Given the description of an element on the screen output the (x, y) to click on. 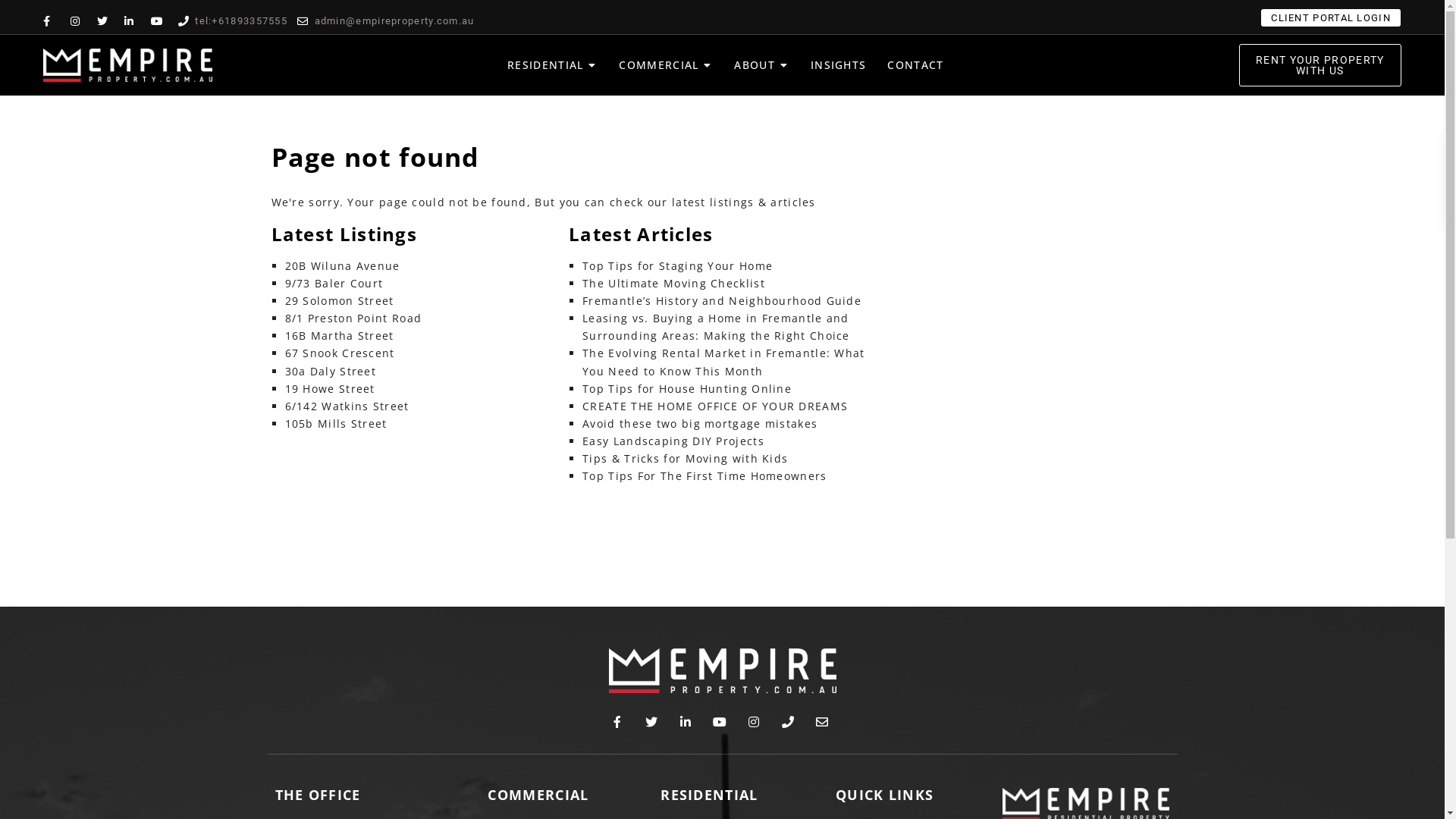
ABOUT Element type: text (754, 64)
The Ultimate Moving Checklist Element type: text (673, 283)
COMMERCIAL Element type: text (537, 794)
COMMERCIAL Element type: text (658, 64)
29 Solomon Street Element type: text (339, 300)
Top Tips for Staging Your Home Element type: text (677, 265)
19 Howe Street Element type: text (330, 388)
20B Wiluna Avenue Element type: text (342, 265)
INSIGHTS Element type: text (838, 64)
CONTACT Element type: text (915, 64)
RESIDENTIAL Element type: text (708, 794)
Easy Landscaping DIY Projects Element type: text (673, 440)
30a Daly Street Element type: text (330, 371)
6/142 Watkins Street Element type: text (347, 405)
CREATE THE HOME OFFICE OF YOUR DREAMS Element type: text (714, 405)
CLIENT PORTAL LOGIN Element type: text (1330, 17)
Top Tips for House Hunting Online Element type: text (686, 388)
Avoid these two big mortgage mistakes Element type: text (699, 423)
67 Snook Crescent Element type: text (340, 352)
tel:+61893357555 Element type: text (232, 20)
9/73 Baler Court Element type: text (334, 283)
RENT YOUR PROPERTY WITH US Element type: text (1320, 64)
16B Martha Street Element type: text (339, 335)
RESIDENTIAL Element type: text (545, 64)
admin@empireproperty.com.au Element type: text (385, 20)
Top Tips For The First Time Homeowners Element type: text (704, 475)
Tips & Tricks for Moving with Kids Element type: text (684, 458)
105b Mills Street Element type: text (336, 423)
8/1 Preston Point Road Element type: text (353, 317)
